Given the description of an element on the screen output the (x, y) to click on. 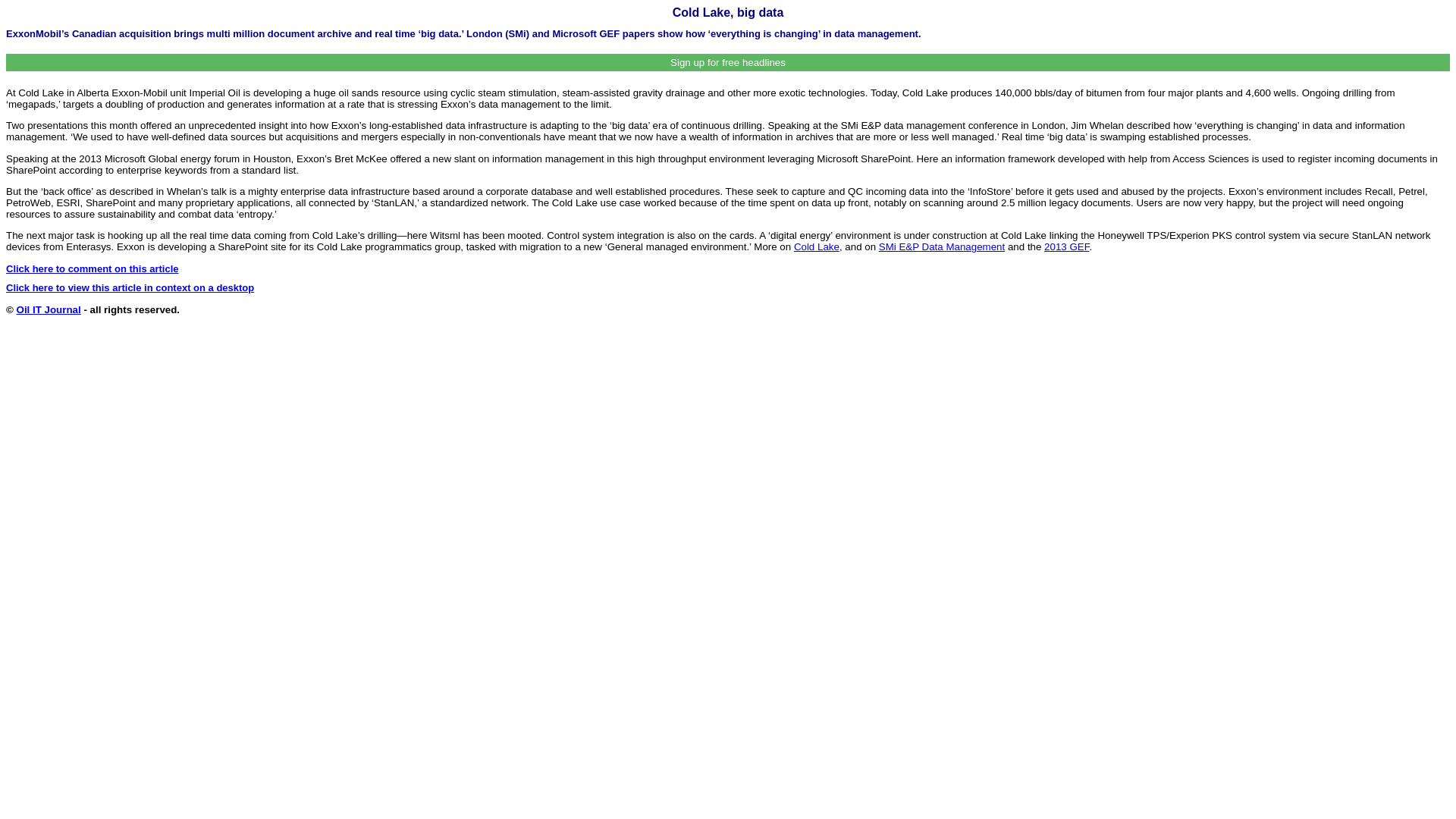
Oil IT Journal (48, 309)
Sign up for free headlines (727, 62)
2013 GEF (1066, 246)
Cold Lake (816, 246)
Click here to comment on this article (92, 268)
Click here to view this article in context on a desktop (129, 287)
